Given the description of an element on the screen output the (x, y) to click on. 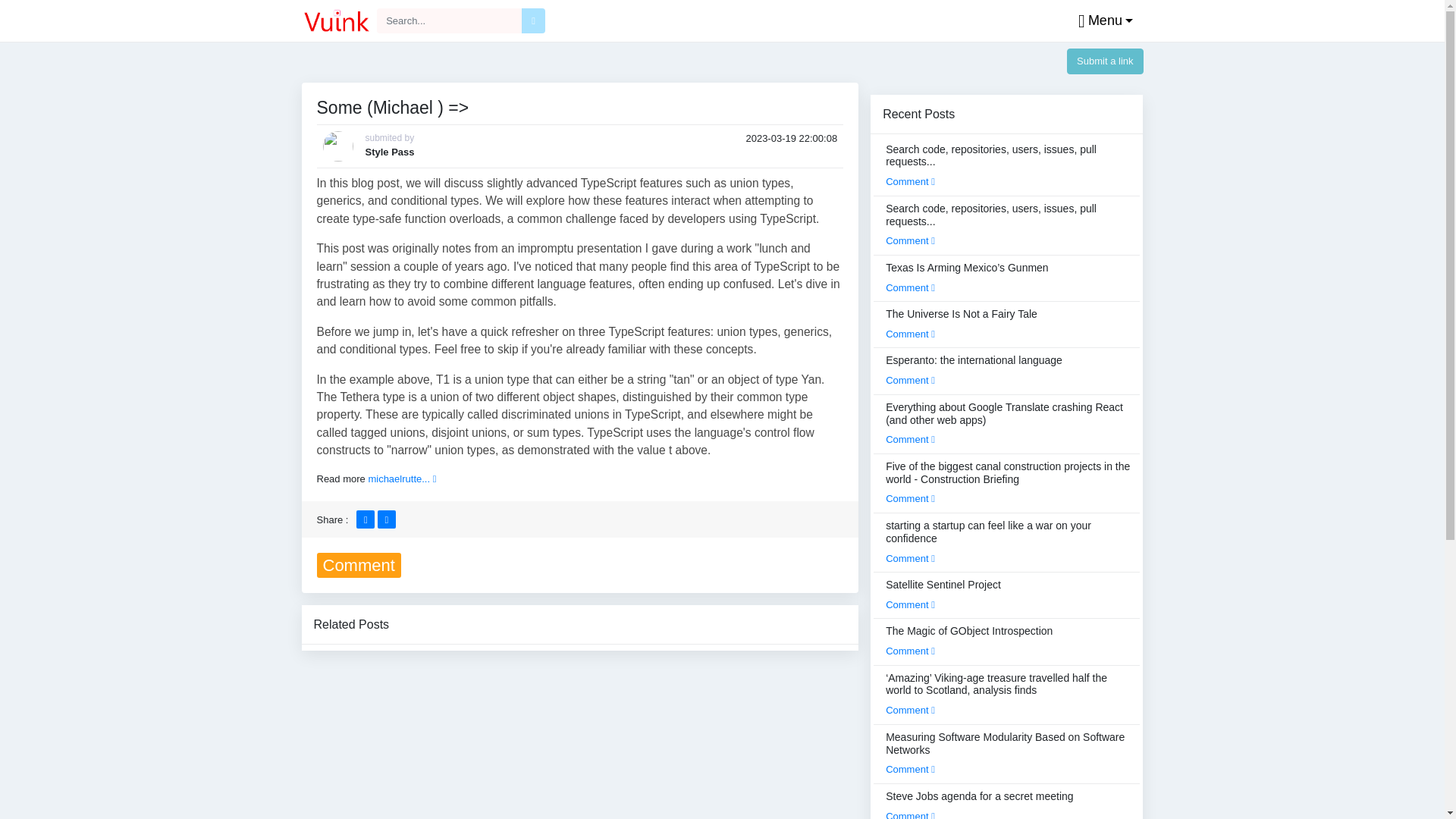
Comment (909, 604)
Menu (1101, 20)
Submit a link (1104, 61)
michaelrutte... (401, 478)
Comment (909, 240)
Search code, repositories, users, issues, pull requests... (1008, 165)
Comment (909, 333)
starting a startup can feel like a war on your confidence (1008, 541)
Esperanto: the international language (973, 369)
The Universe Is Not a Fairy Tale (960, 323)
